Given the description of an element on the screen output the (x, y) to click on. 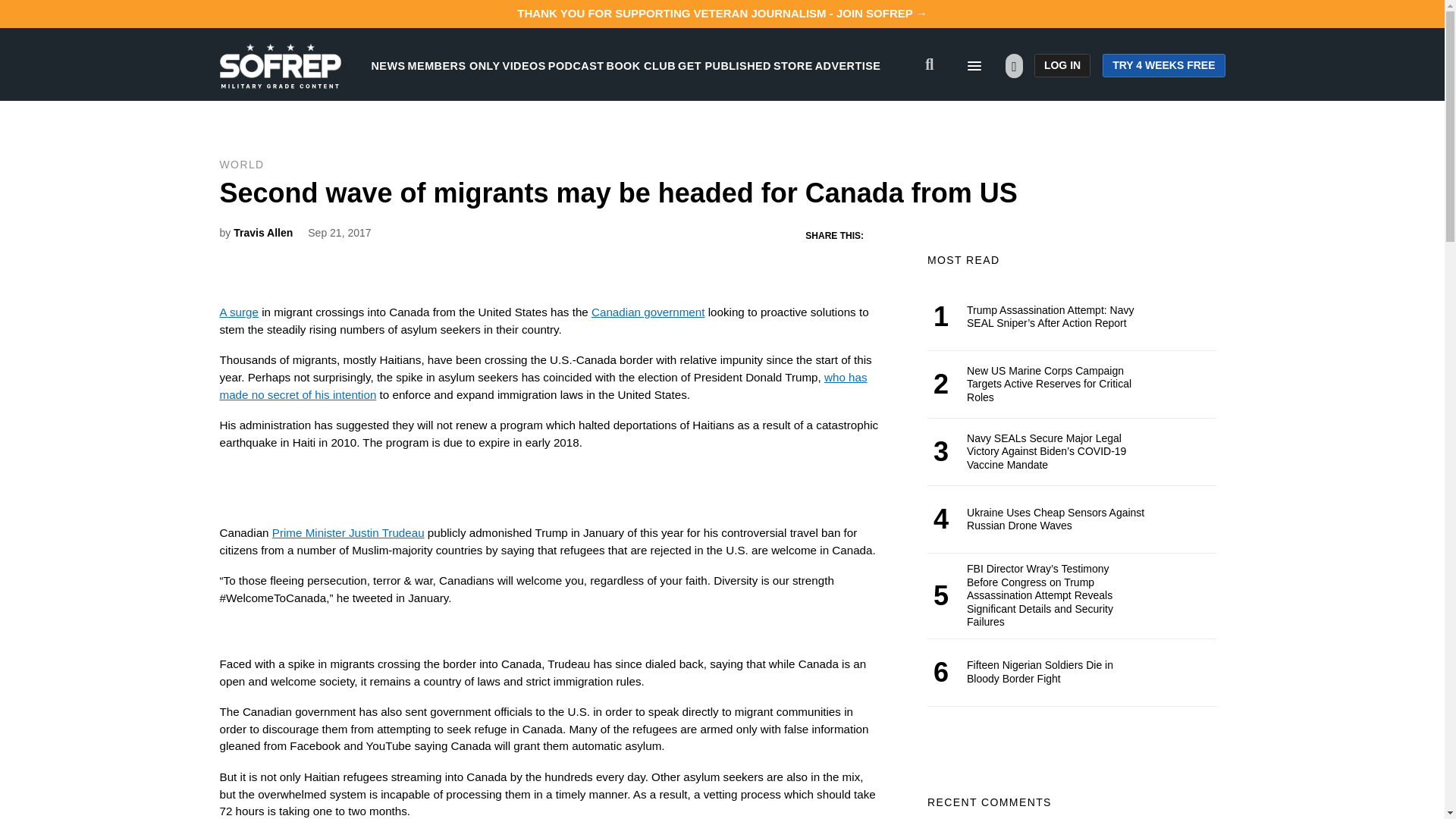
TRY 4 WEEKS FREE (1163, 65)
ADVERTISE (847, 65)
LOG IN (1061, 65)
NEWS (388, 65)
VIDEOS (524, 65)
PODCAST (576, 65)
BOOK CLUB (641, 65)
STORE (792, 65)
MEMBERS ONLY (453, 65)
GET PUBLISHED (724, 65)
